Given the description of an element on the screen output the (x, y) to click on. 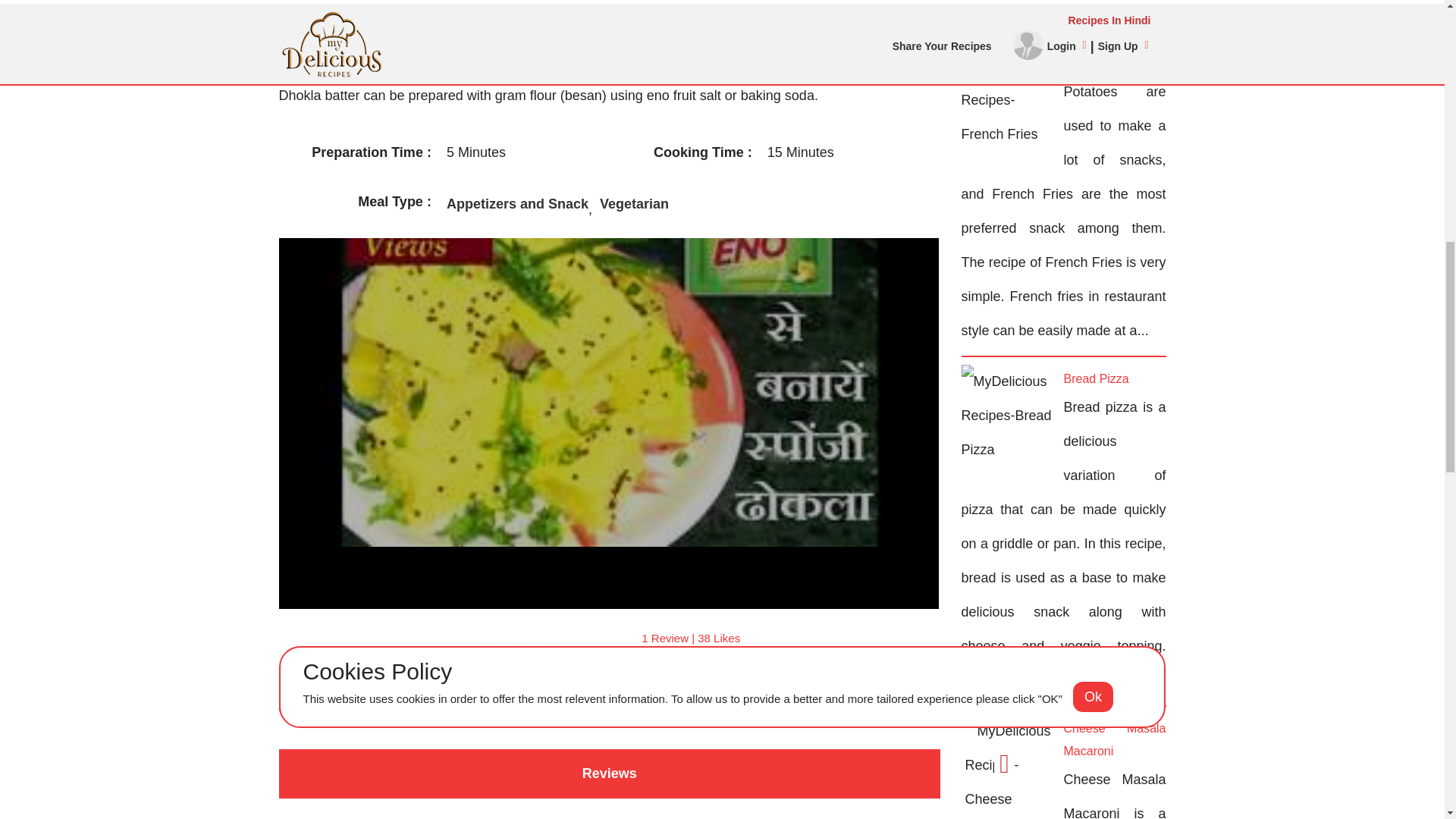
Rate (559, 638)
Rate (541, 638)
Rate (508, 638)
Like It (608, 695)
Rate (525, 638)
Rate (492, 638)
